Given the description of an element on the screen output the (x, y) to click on. 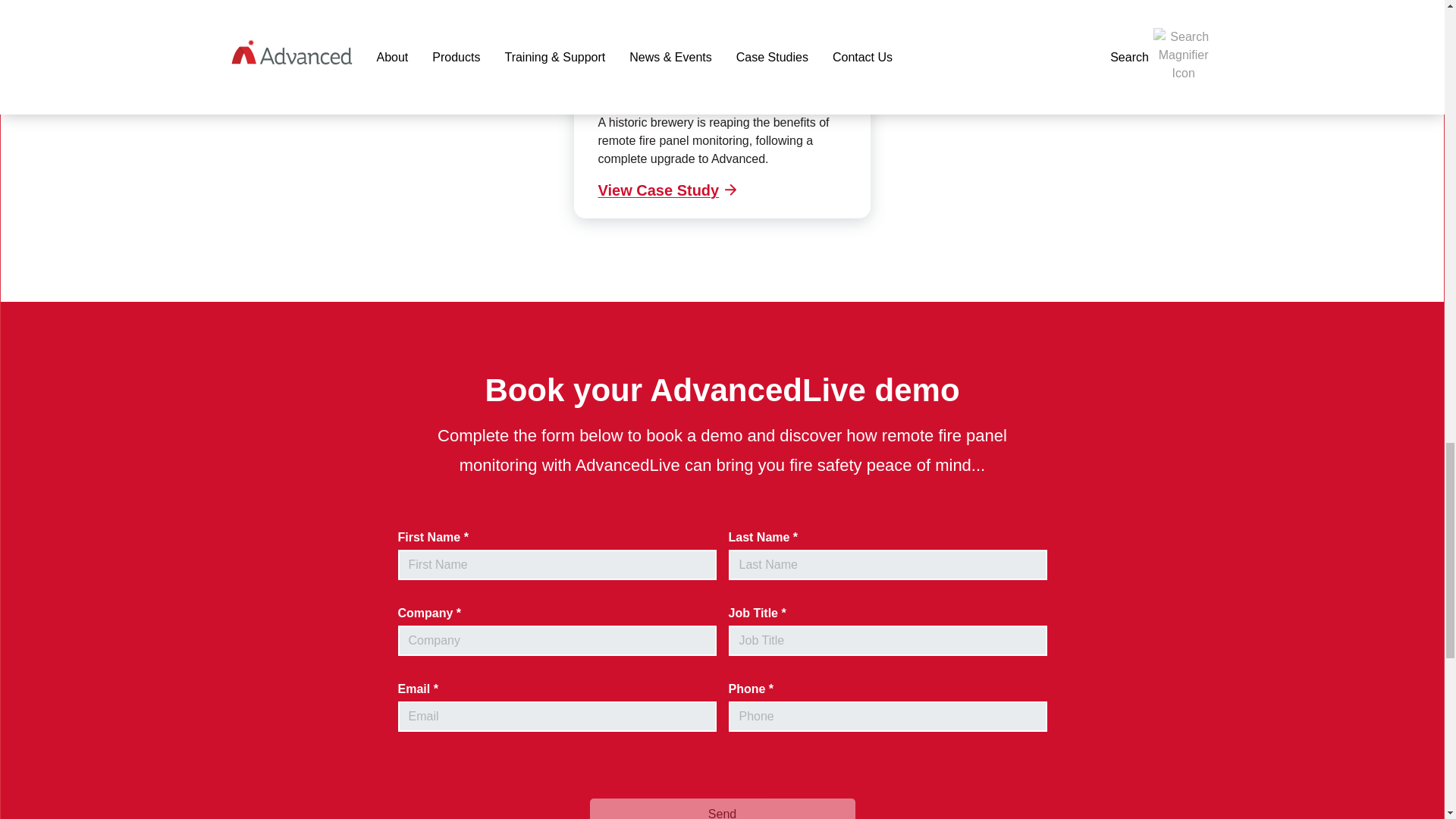
Send (722, 808)
View Case Study (669, 190)
Read more about Heineken Ireland, Cork (669, 190)
Send (722, 808)
